Given the description of an element on the screen output the (x, y) to click on. 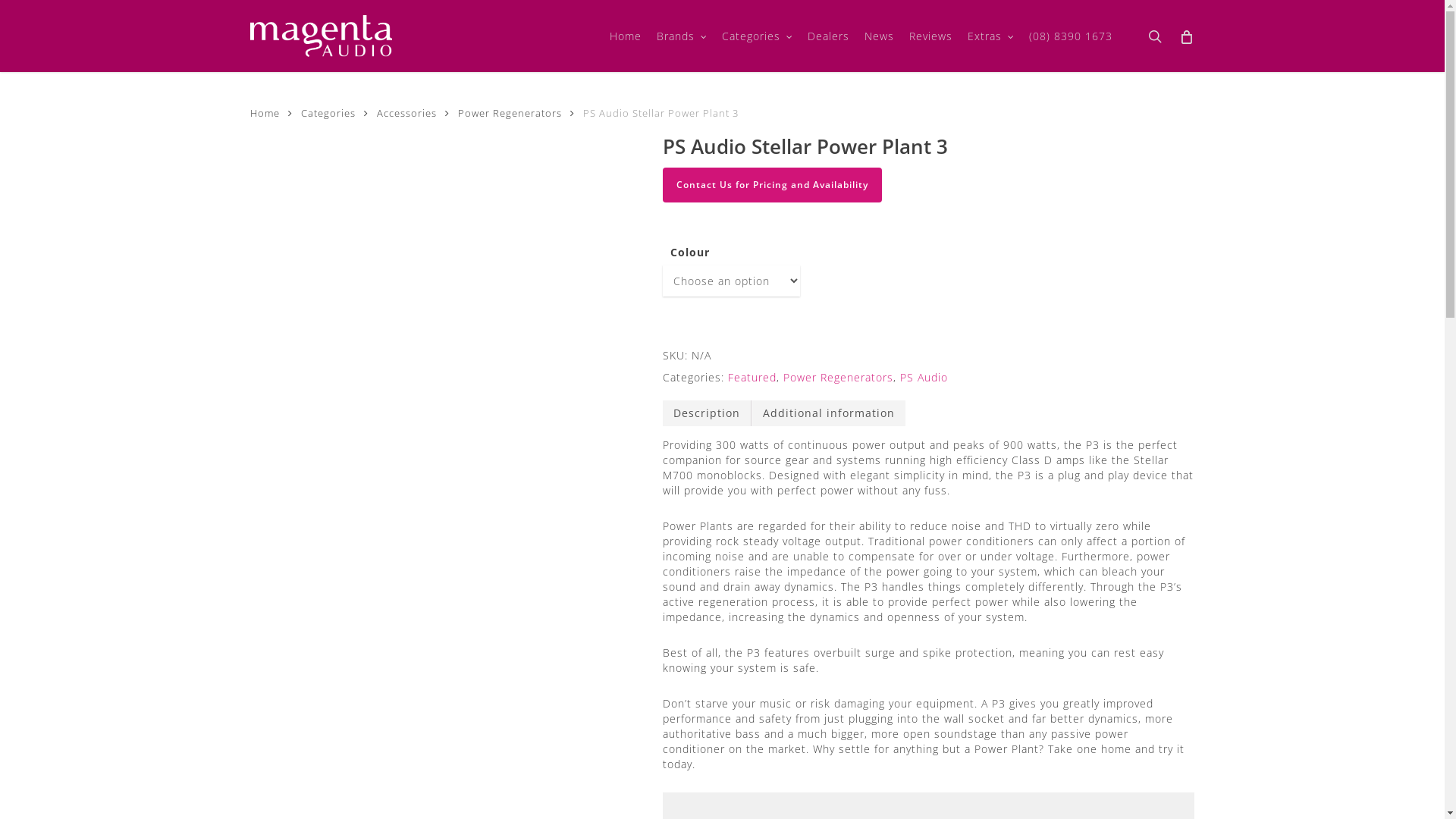
Extras Element type: text (990, 35)
Additional information Element type: text (828, 413)
(08) 8390 1673 Element type: text (1070, 35)
Power Regenerators Element type: text (838, 377)
Categories Element type: text (328, 112)
Home Element type: text (625, 35)
Power Regenerators Element type: text (509, 112)
Home Element type: text (264, 112)
Reviews Element type: text (930, 35)
News Element type: text (878, 35)
PS Audio Element type: text (923, 377)
Featured Element type: text (752, 377)
Categories Element type: text (757, 35)
Accessories Element type: text (406, 112)
Dealers Element type: text (828, 35)
search Element type: text (1154, 35)
Description Element type: text (706, 413)
Contact Us for Pricing and Availability Element type: text (771, 184)
Brands Element type: text (681, 35)
